Given the description of an element on the screen output the (x, y) to click on. 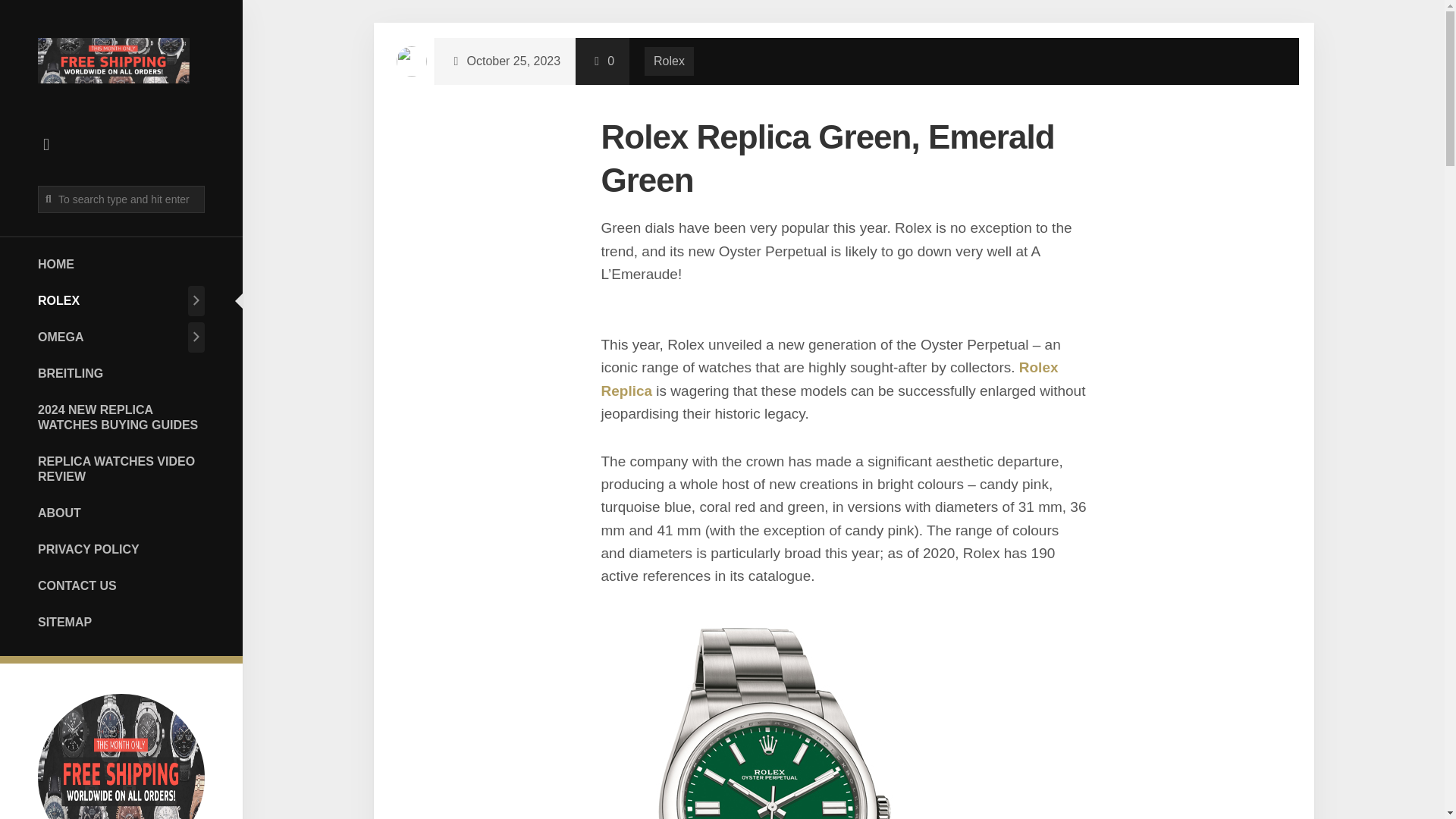
OMEGA (111, 336)
Facebook (46, 144)
HOME (121, 263)
ABOUT (121, 512)
PRIVACY POLICY (121, 548)
CONTACT US (121, 585)
2024 NEW REPLICA WATCHES BUYING GUIDES (121, 416)
SITEMAP (121, 621)
To search type and hit enter (121, 198)
REPLICA WATCHES VIDEO REVIEW (121, 468)
